Given the description of an element on the screen output the (x, y) to click on. 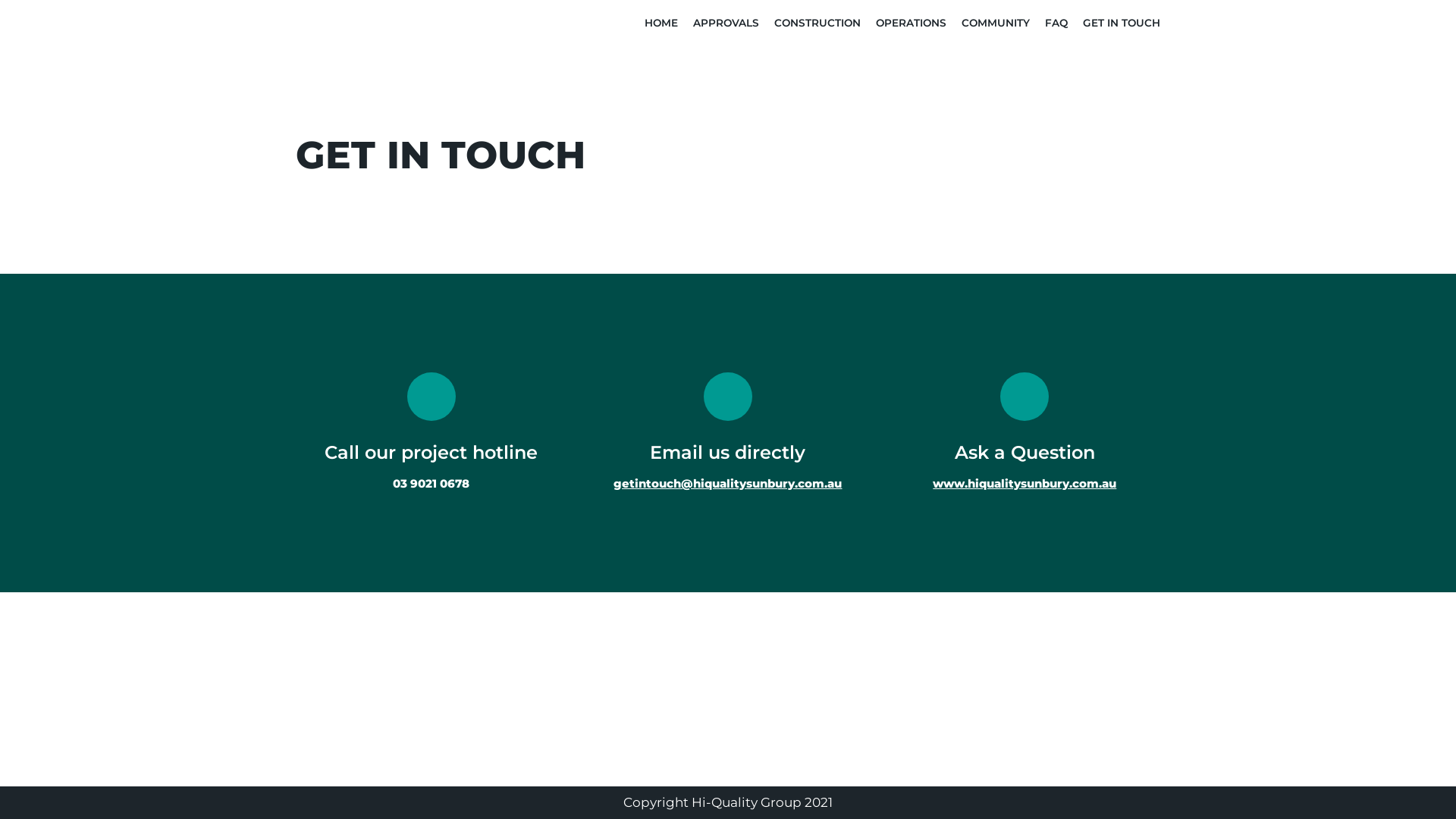
Skip to content Element type: text (15, 31)
OPERATIONS Element type: text (910, 22)
APPROVALS Element type: text (726, 22)
HOME Element type: text (660, 22)
getintouch@hiqualitysunbury.com.au Element type: text (727, 483)
CONSTRUCTION Element type: text (817, 22)
COMMUNITY Element type: text (995, 22)
GET IN TOUCH Element type: text (1121, 22)
www.hiqualitysunbury.com.au Element type: text (1024, 483)
FAQ Element type: text (1055, 22)
Hi-Quality Eco-Hub Element type: hover (311, 22)
Copyright Hi-Quality Group 2021 Element type: text (727, 801)
